Given the description of an element on the screen output the (x, y) to click on. 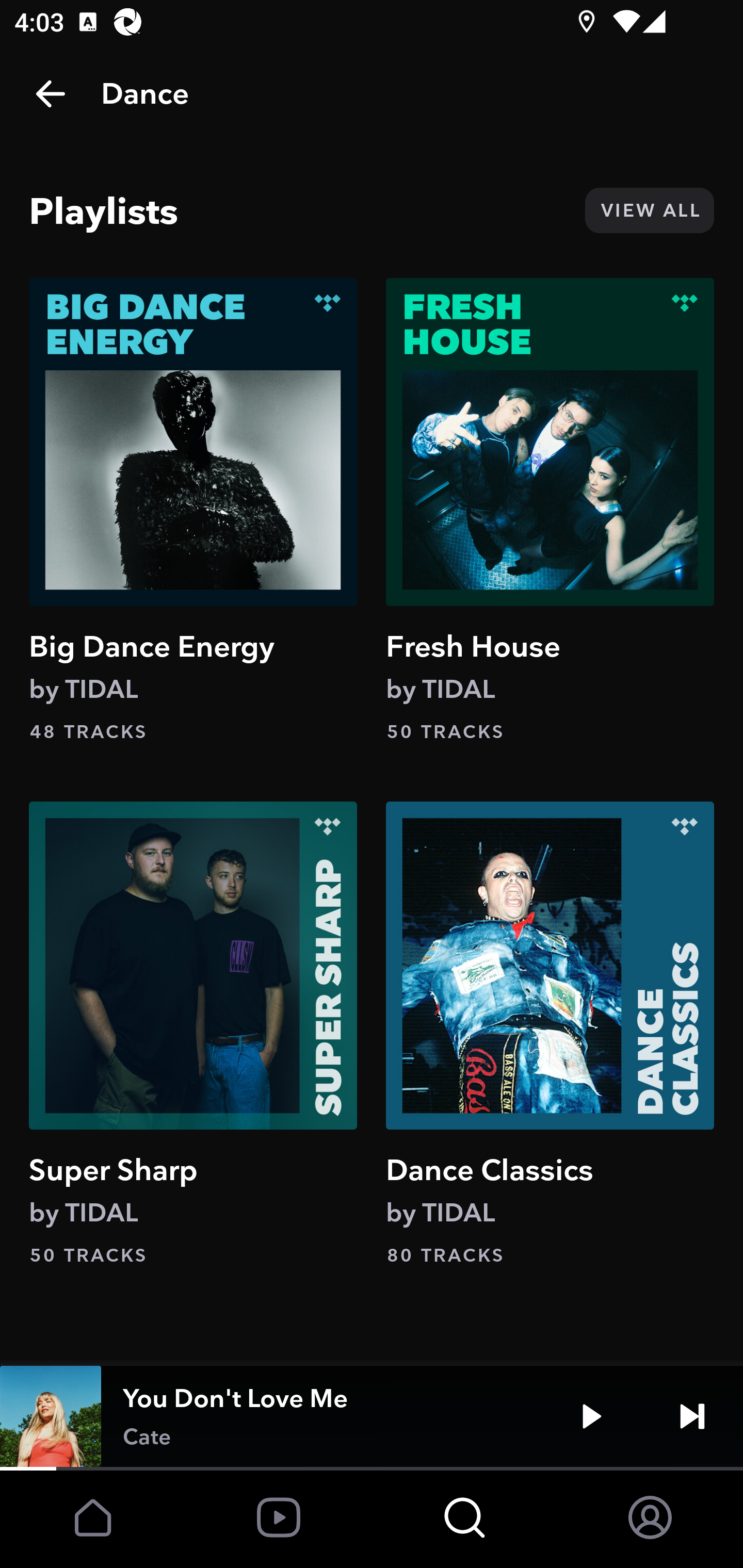
VIEW ALL (649, 210)
Big Dance Energy by TIDAL 48 TRACKS (192, 510)
Fresh House by TIDAL 50 TRACKS (549, 510)
Super Sharp by TIDAL 50 TRACKS (192, 1033)
Dance Classics by TIDAL 80 TRACKS (549, 1033)
You Don't Love Me Cate Play (371, 1416)
Play (590, 1416)
